Given the description of an element on the screen output the (x, y) to click on. 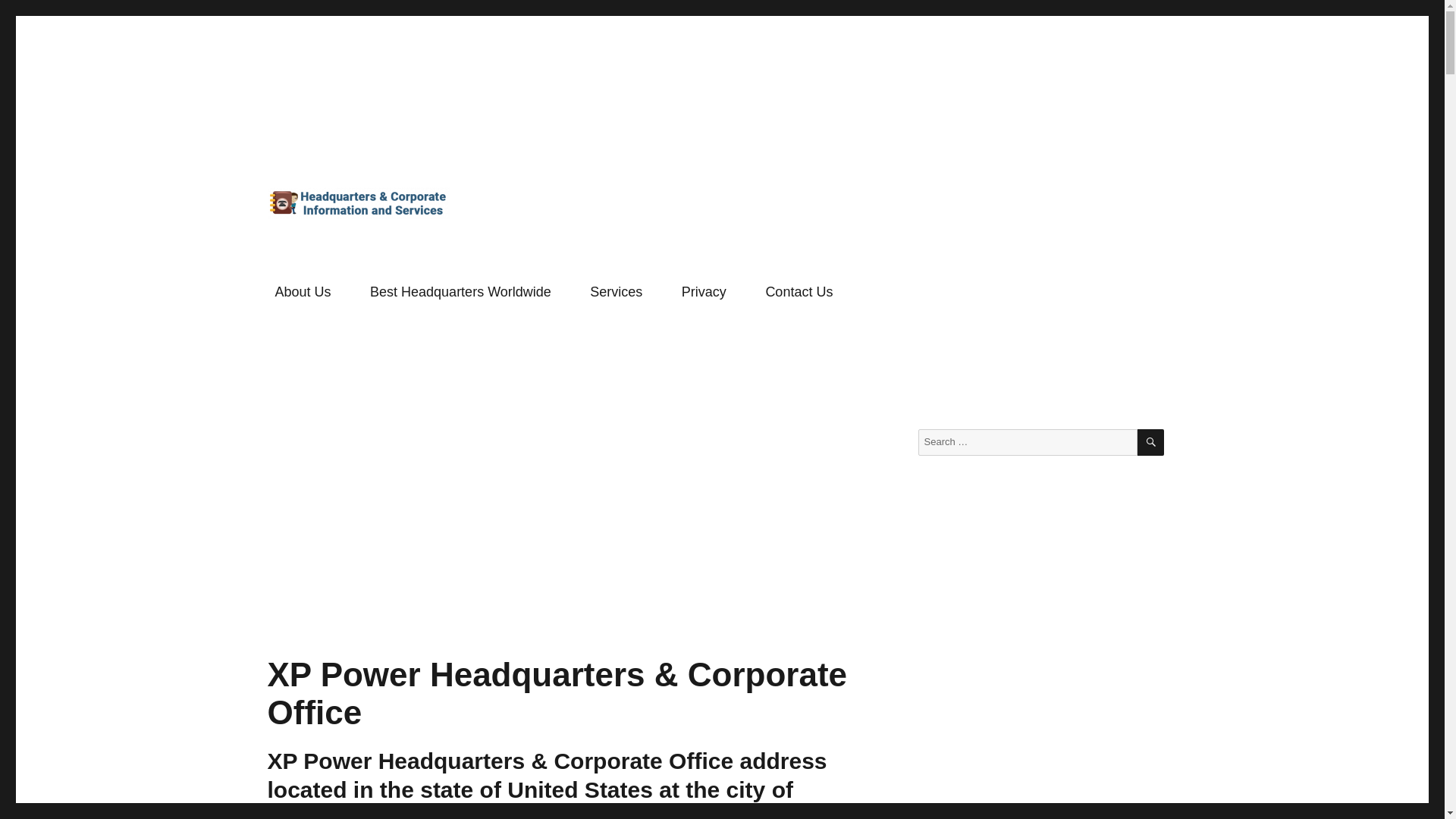
About Us (303, 292)
Best Headquarters Worldwide (460, 292)
Contact Us (799, 292)
Privacy (703, 292)
SEARCH (1150, 442)
Services (616, 292)
